Given the description of an element on the screen output the (x, y) to click on. 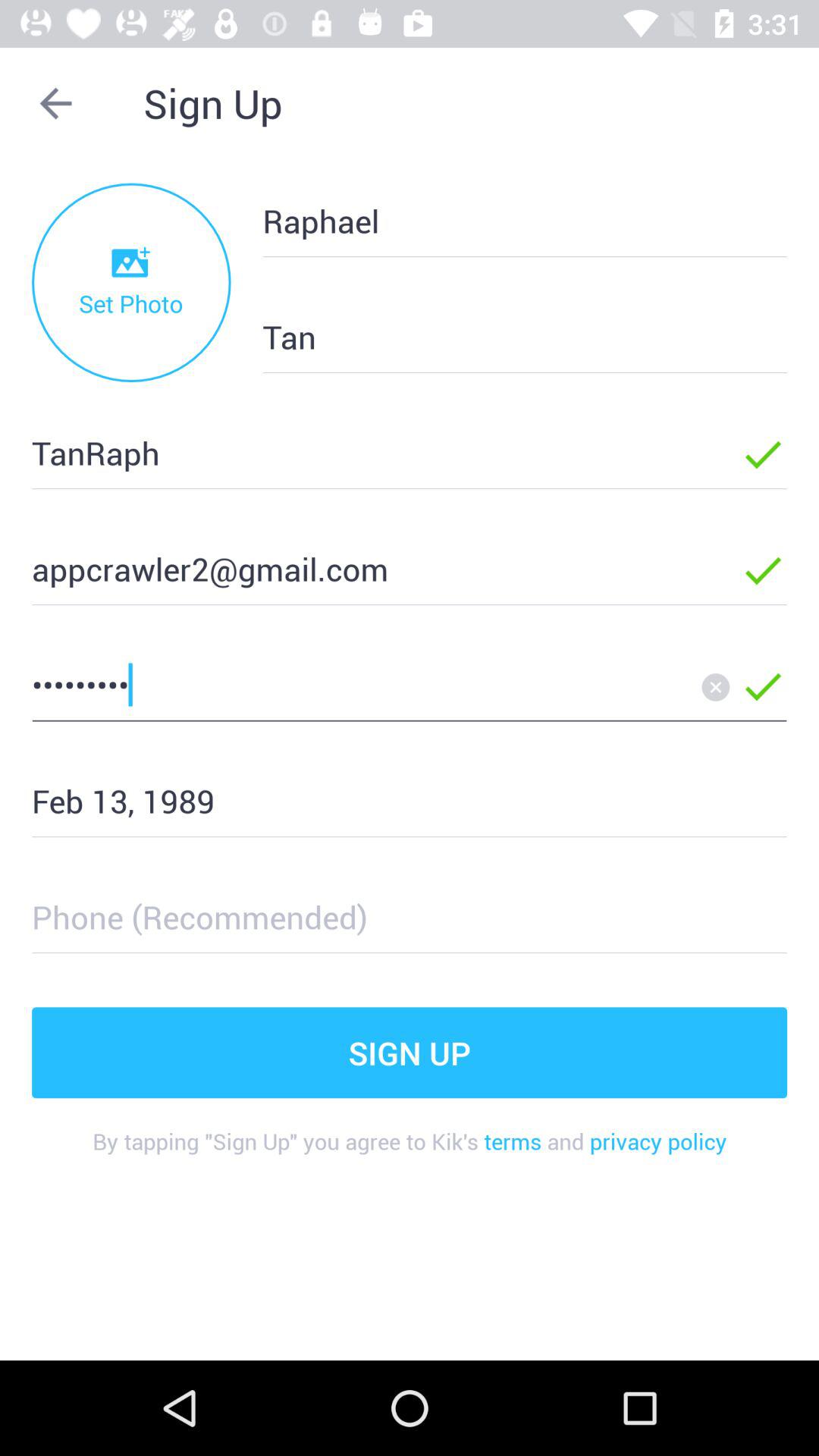
flip until tanraph item (361, 452)
